Given the description of an element on the screen output the (x, y) to click on. 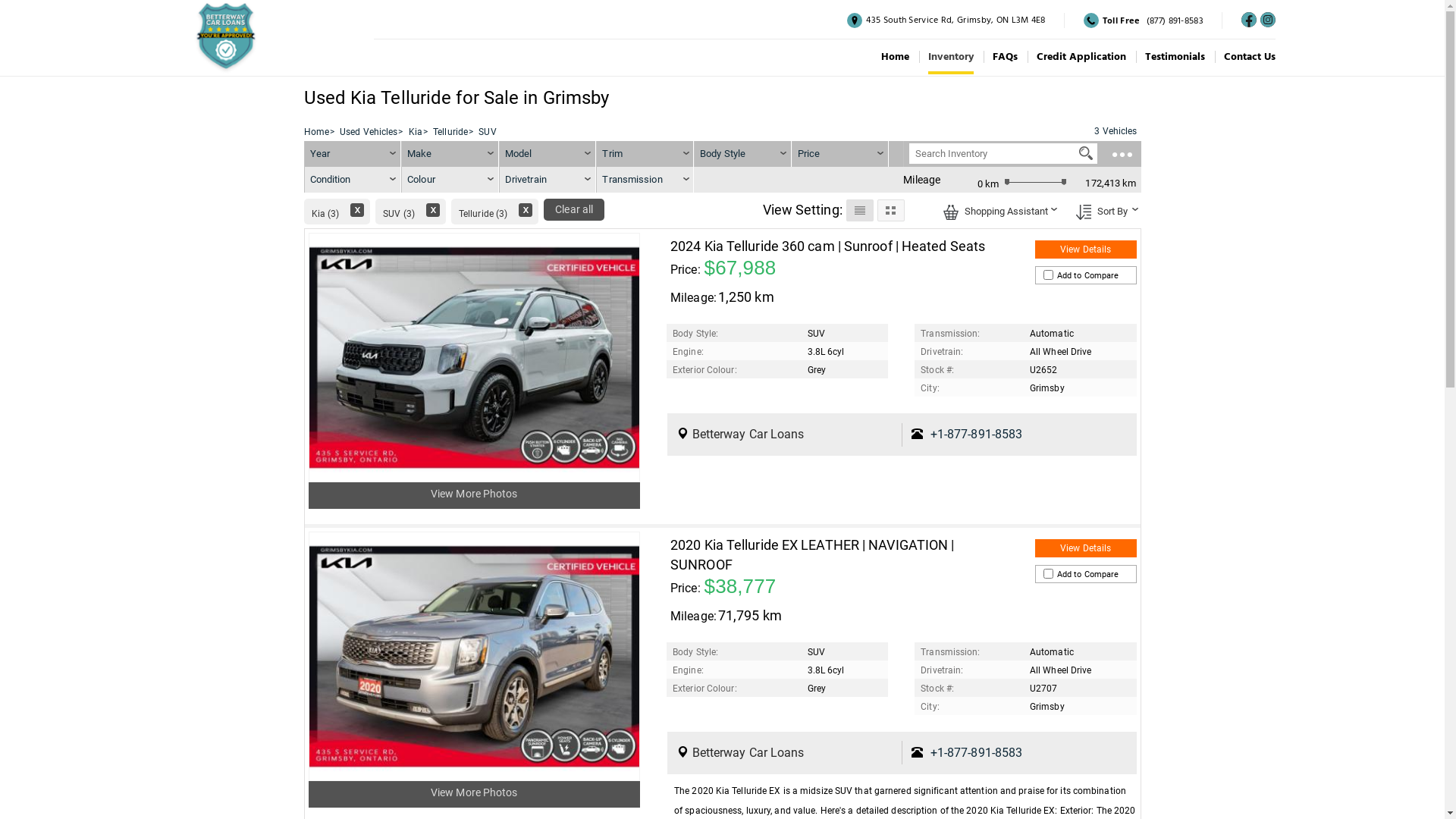
Testimonials Element type: text (1174, 56)
Transmission Element type: text (644, 179)
Drivetrain Element type: text (547, 179)
Home Element type: text (315, 131)
FAQs Element type: text (1004, 56)
SUV Element type: text (486, 131)
Price Element type: text (808, 153)
Toll Free (877) 891-8583 Element type: text (1143, 19)
unchecked Element type: text (1048, 573)
Home Element type: text (895, 56)
Telluride Element type: text (450, 131)
Year Element type: text (352, 153)
435 South Service Rd,
Grimsby, ON L3M 4E8 Element type: text (945, 19)
unchecked Element type: text (1048, 274)
Shopping Assistant Element type: text (996, 209)
Sort By Element type: hover (1082, 211)
Credit Application Element type: text (1081, 56)
Inventory Element type: text (950, 56)
Shopping Assistant Element type: hover (950, 211)
Grid View Element type: hover (890, 209)
Trim Element type: text (644, 153)
+1-877-891-8583 Element type: text (976, 433)
Condition Element type: text (352, 179)
View More Photos Element type: text (473, 493)
Body Style Element type: text (742, 153)
View Details Element type: text (1085, 548)
Kia Element type: text (415, 131)
View More Photos Element type: text (473, 792)
Contact Us Element type: text (1249, 56)
+1-877-891-8583 Element type: text (976, 752)
Listing View Element type: hover (859, 209)
2024 Kia Telluride 360 cam | Sunroof | Heated Seats Element type: text (827, 246)
Search Element type: hover (1085, 152)
2020 Kia Telluride EX LEATHER | NAVIGATION | SUNROOF Element type: text (811, 554)
Make Element type: text (449, 153)
Sort By Element type: text (1102, 209)
Used Vehicles Element type: text (368, 131)
View Details Element type: text (1085, 249)
Model Element type: text (547, 153)
Clear all Element type: text (573, 209)
Colour Element type: text (449, 179)
